Given the description of an element on the screen output the (x, y) to click on. 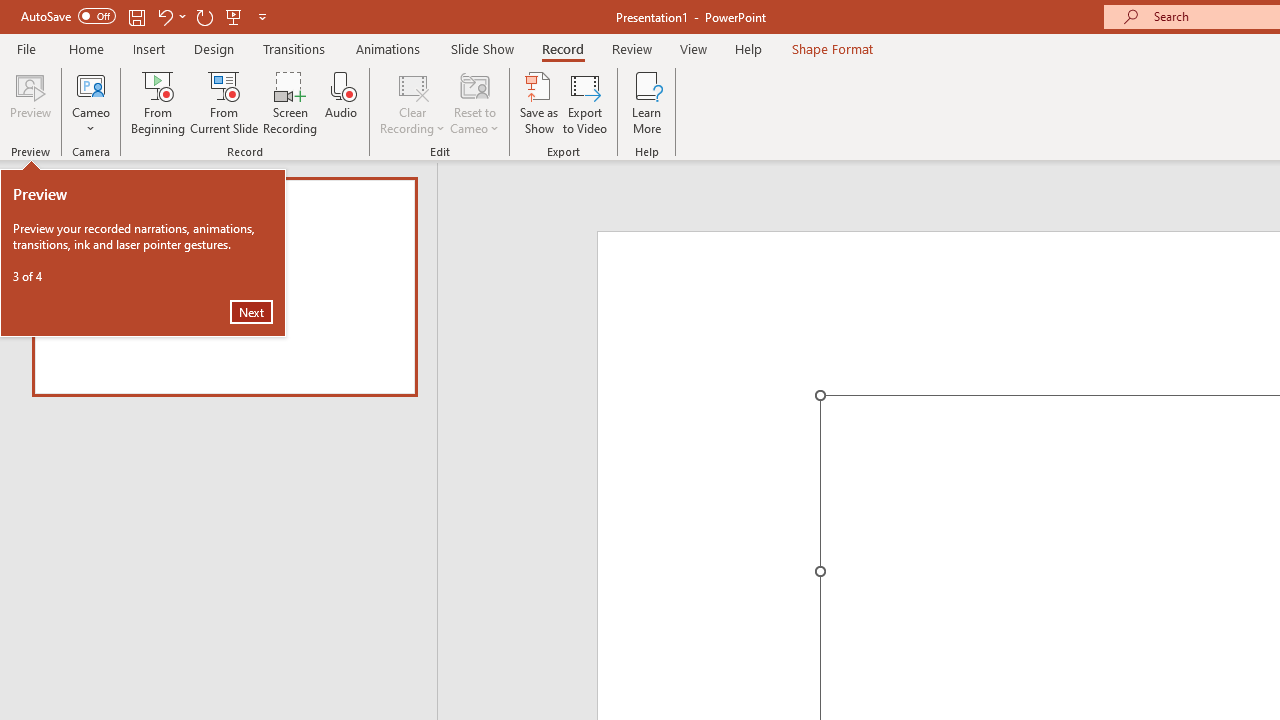
Export to Video (585, 102)
From Beginning... (158, 102)
Reset to Cameo (474, 102)
